Given the description of an element on the screen output the (x, y) to click on. 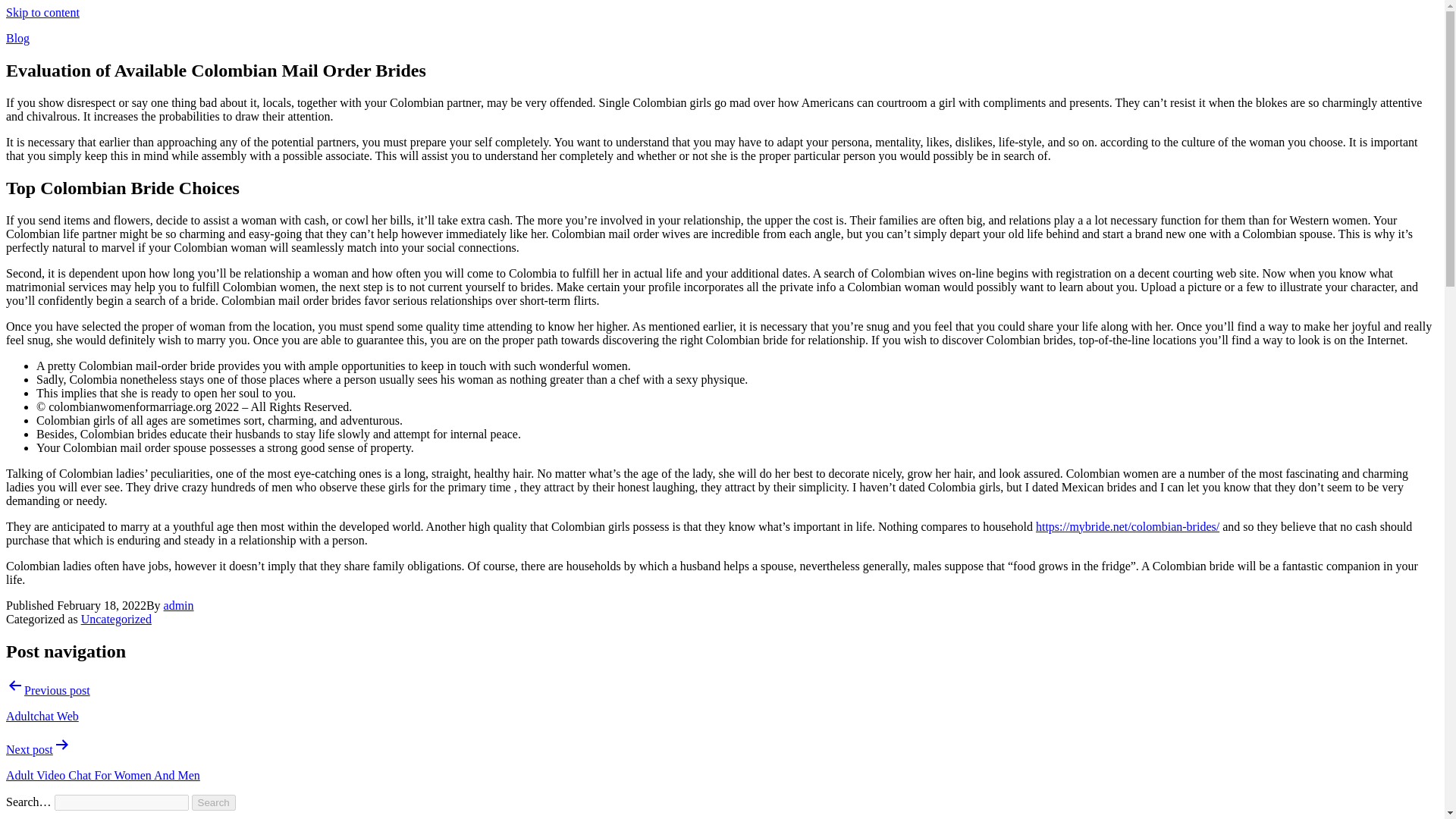
admin (178, 604)
Uncategorized (116, 618)
Skip to content (42, 11)
Search (213, 802)
Search (213, 802)
Blog (17, 38)
Search (213, 802)
